Given the description of an element on the screen output the (x, y) to click on. 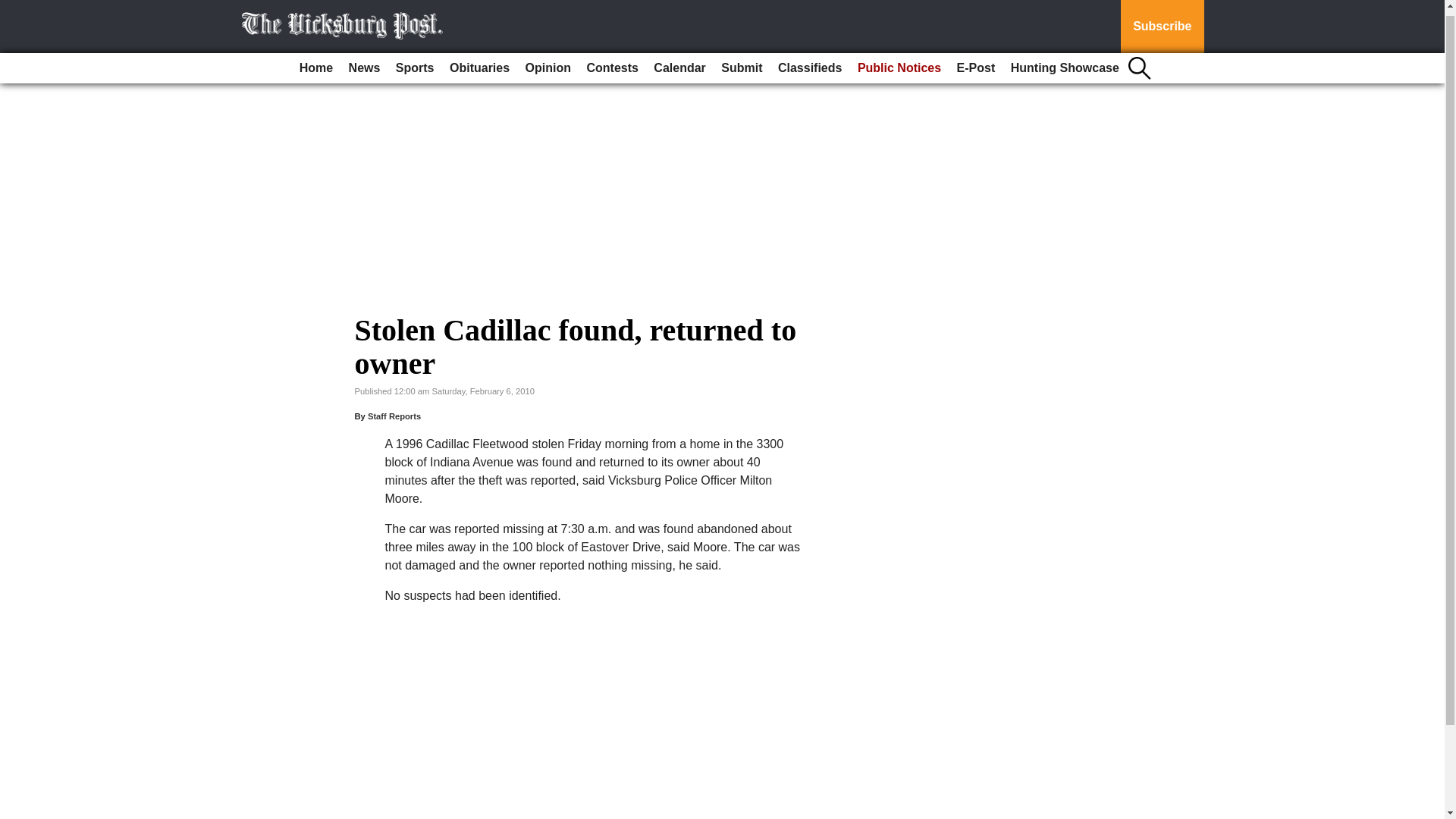
Contests (611, 62)
Go (13, 6)
Classifieds (809, 62)
Staff Reports (394, 415)
News (364, 62)
Opinion (547, 62)
Public Notices (899, 62)
Calendar (679, 62)
Sports (415, 62)
Hunting Showcase (1064, 62)
